Given the description of an element on the screen output the (x, y) to click on. 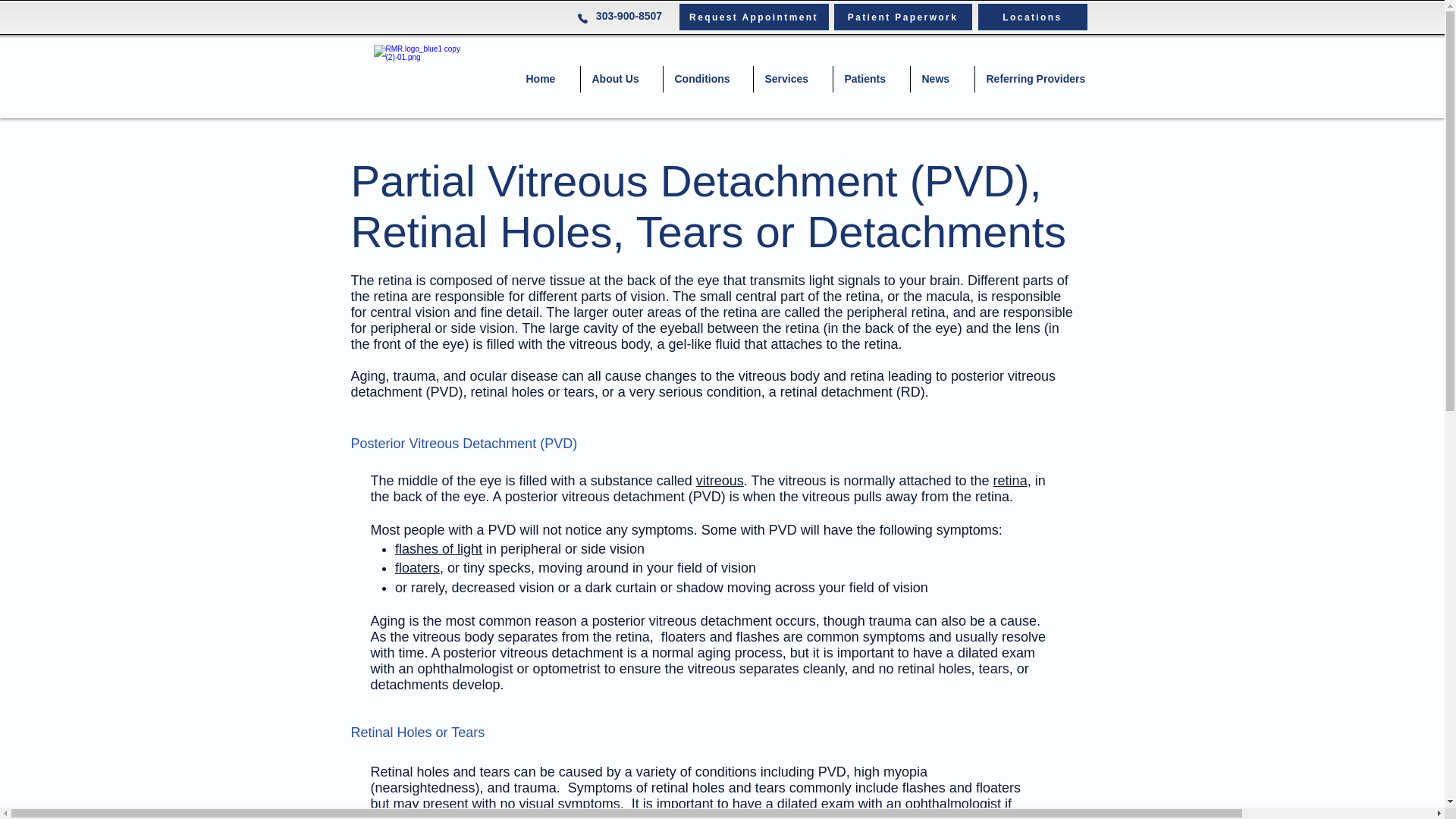
Referring Providers (1040, 79)
Home (546, 79)
Patient Paperwork (903, 17)
News (942, 79)
About Us (621, 79)
Locations (1032, 17)
flashes of light (437, 548)
retina (1009, 480)
Request Appointment (753, 17)
vitreous (719, 480)
 303-900-8507 (627, 15)
floaters (416, 567)
